Given the description of an element on the screen output the (x, y) to click on. 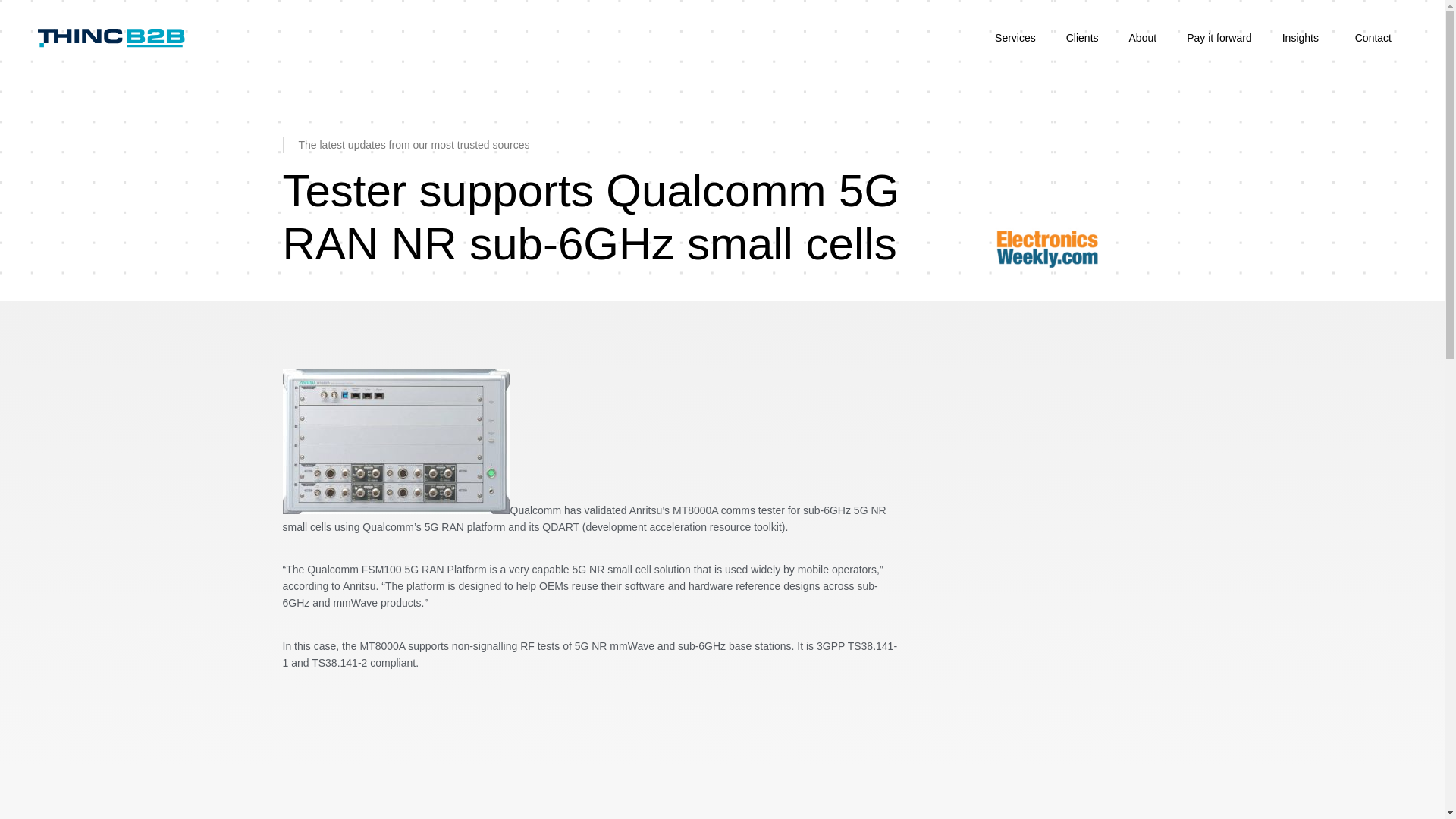
Contact (1372, 37)
Clients (1082, 37)
About (1142, 37)
Pay it forward (1219, 37)
Services (1015, 37)
Insights   (1302, 37)
